Given the description of an element on the screen output the (x, y) to click on. 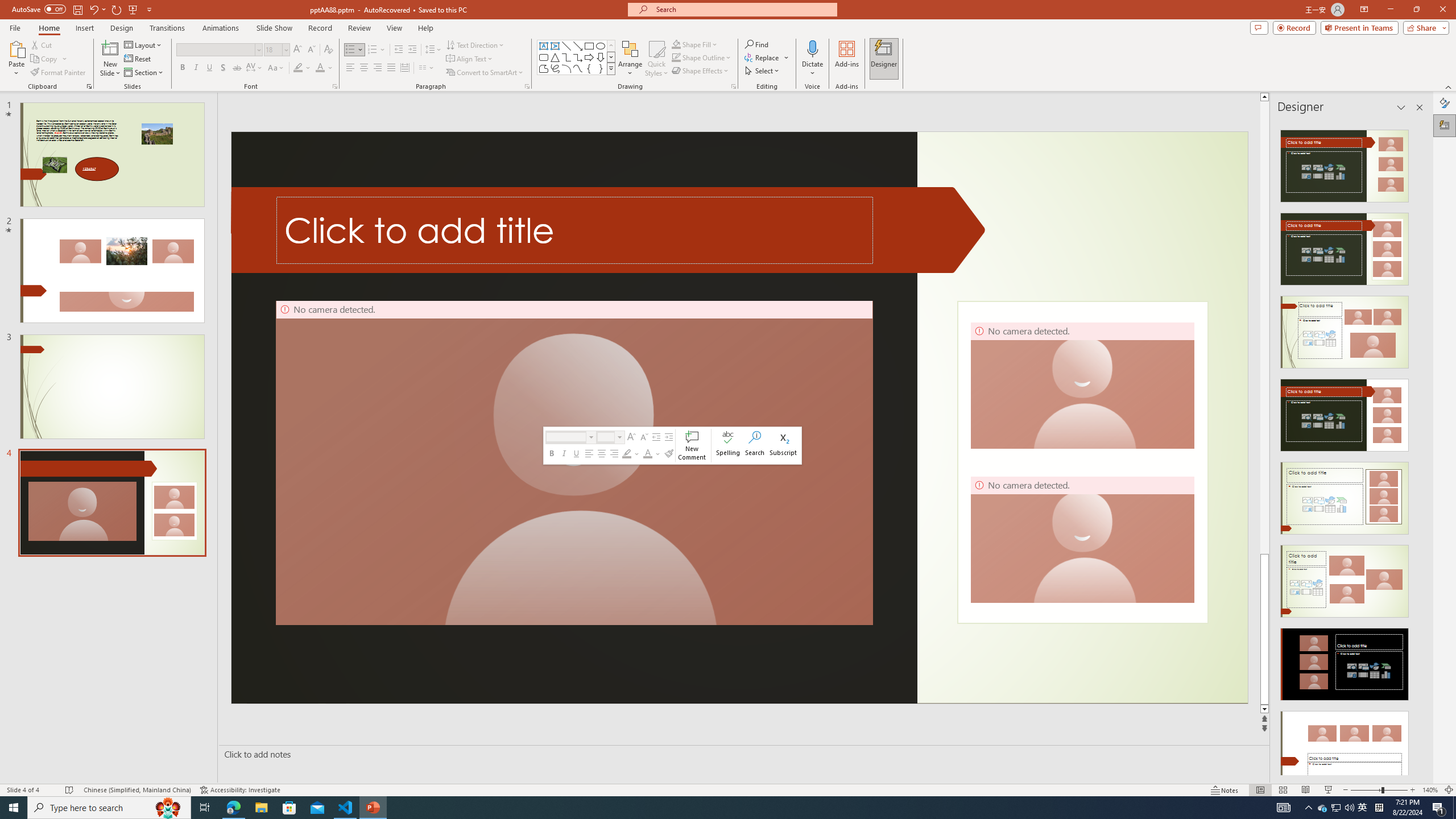
Class: NetUIScrollBar (1418, 447)
New Comment (692, 445)
